Given the description of an element on the screen output the (x, y) to click on. 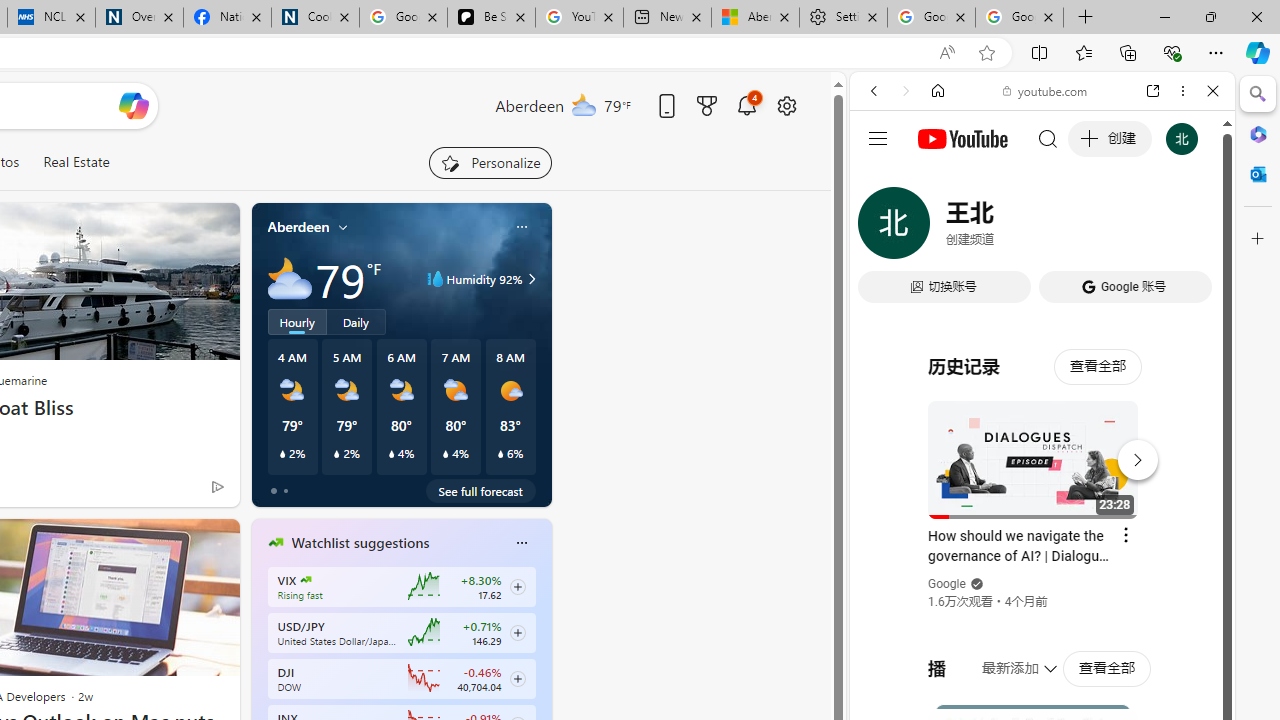
tab-1 (285, 490)
